Given the description of an element on the screen output the (x, y) to click on. 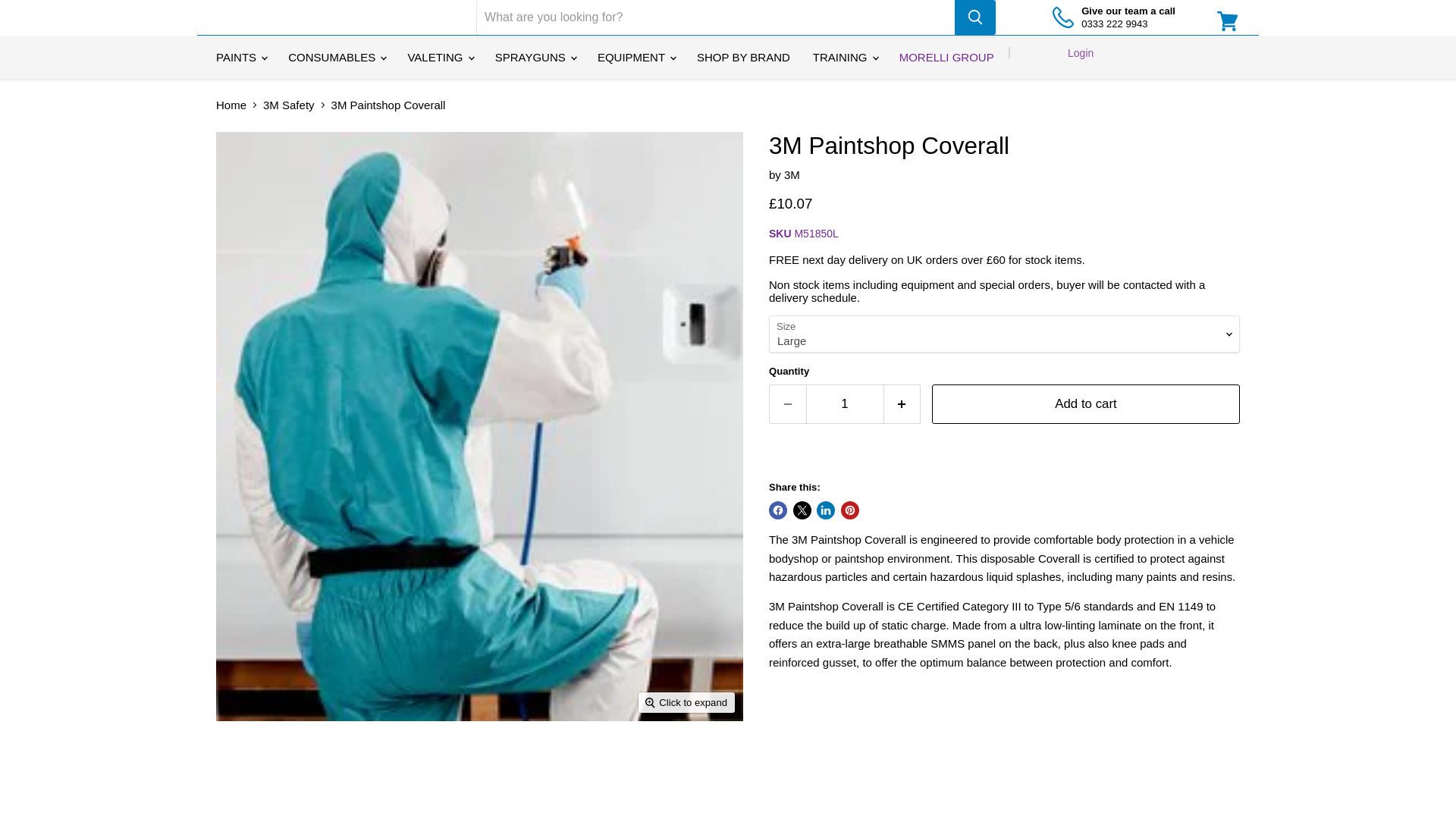
View cart (1227, 21)
1 (844, 403)
3M (791, 174)
